Given the description of an element on the screen output the (x, y) to click on. 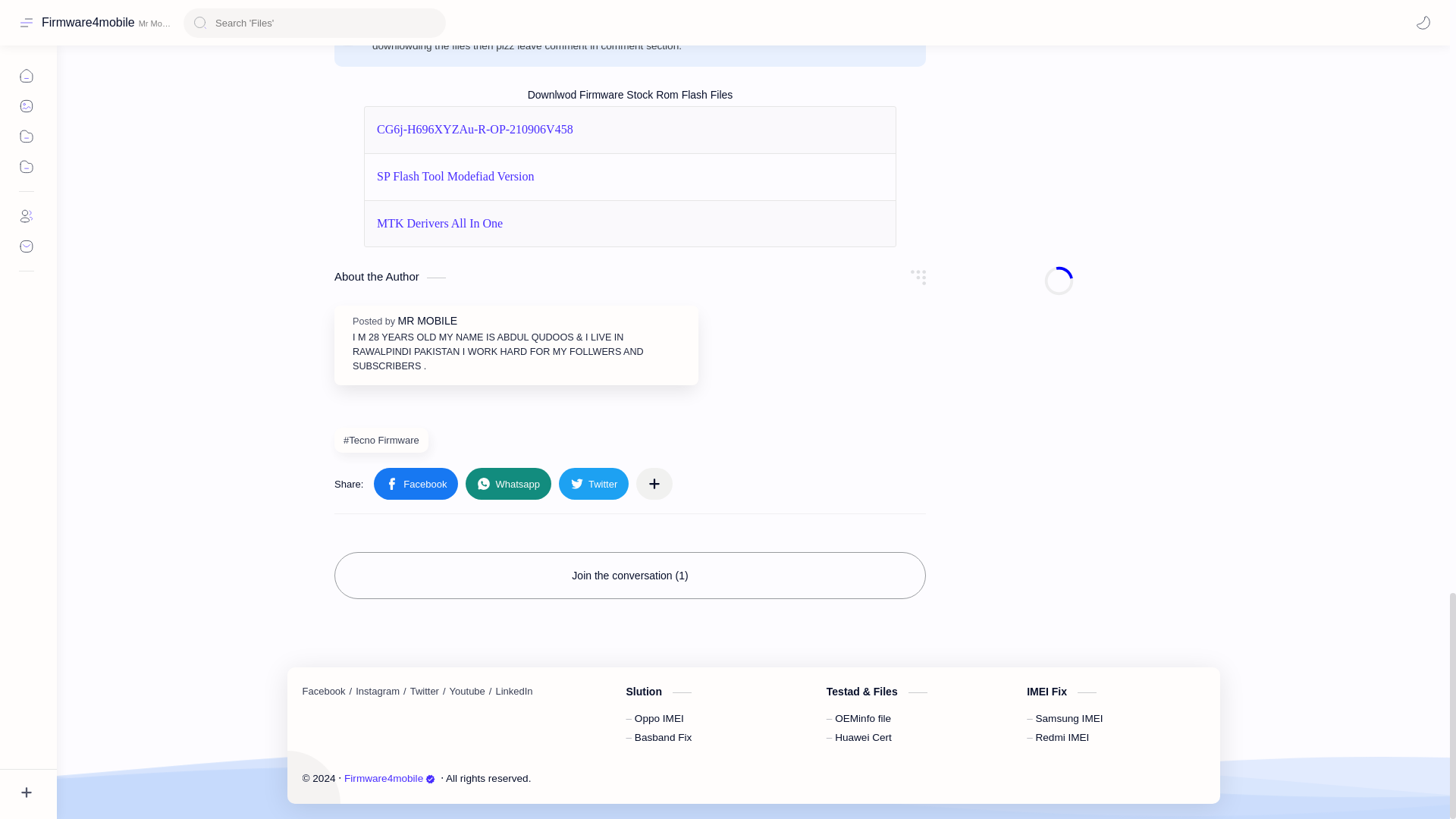
CG6j-H696XYZAu-R-OP-210906V458 (475, 128)
SP Flash Tool Modefiad Version (455, 176)
MTK Derivers All In One (439, 223)
